Given the description of an element on the screen output the (x, y) to click on. 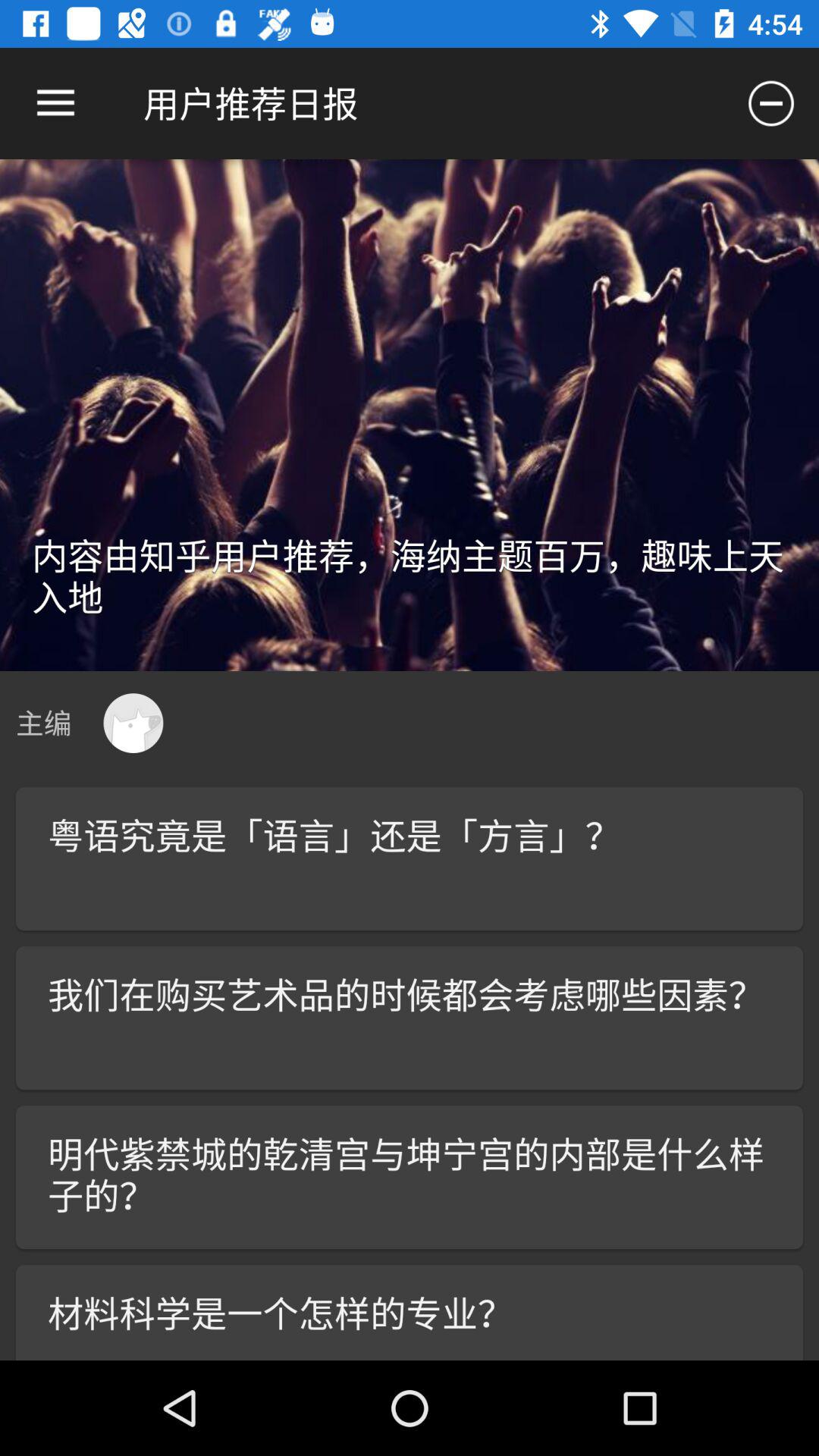
turn off icon at the top right corner (771, 103)
